Given the description of an element on the screen output the (x, y) to click on. 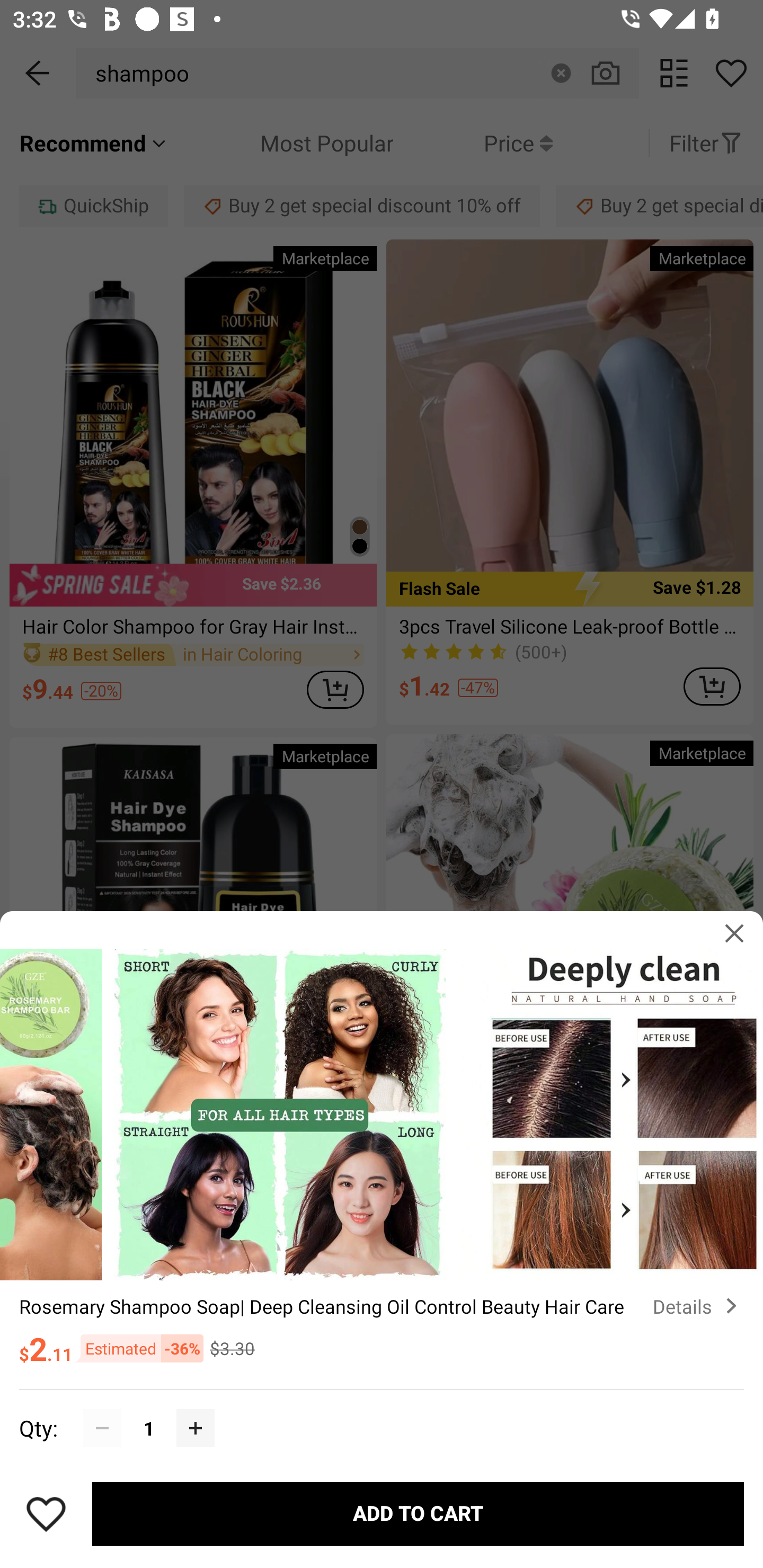
Details (698, 1305)
Estimated -36% (137, 1348)
ADD TO CART (417, 1513)
Save (46, 1513)
